Given the description of an element on the screen output the (x, y) to click on. 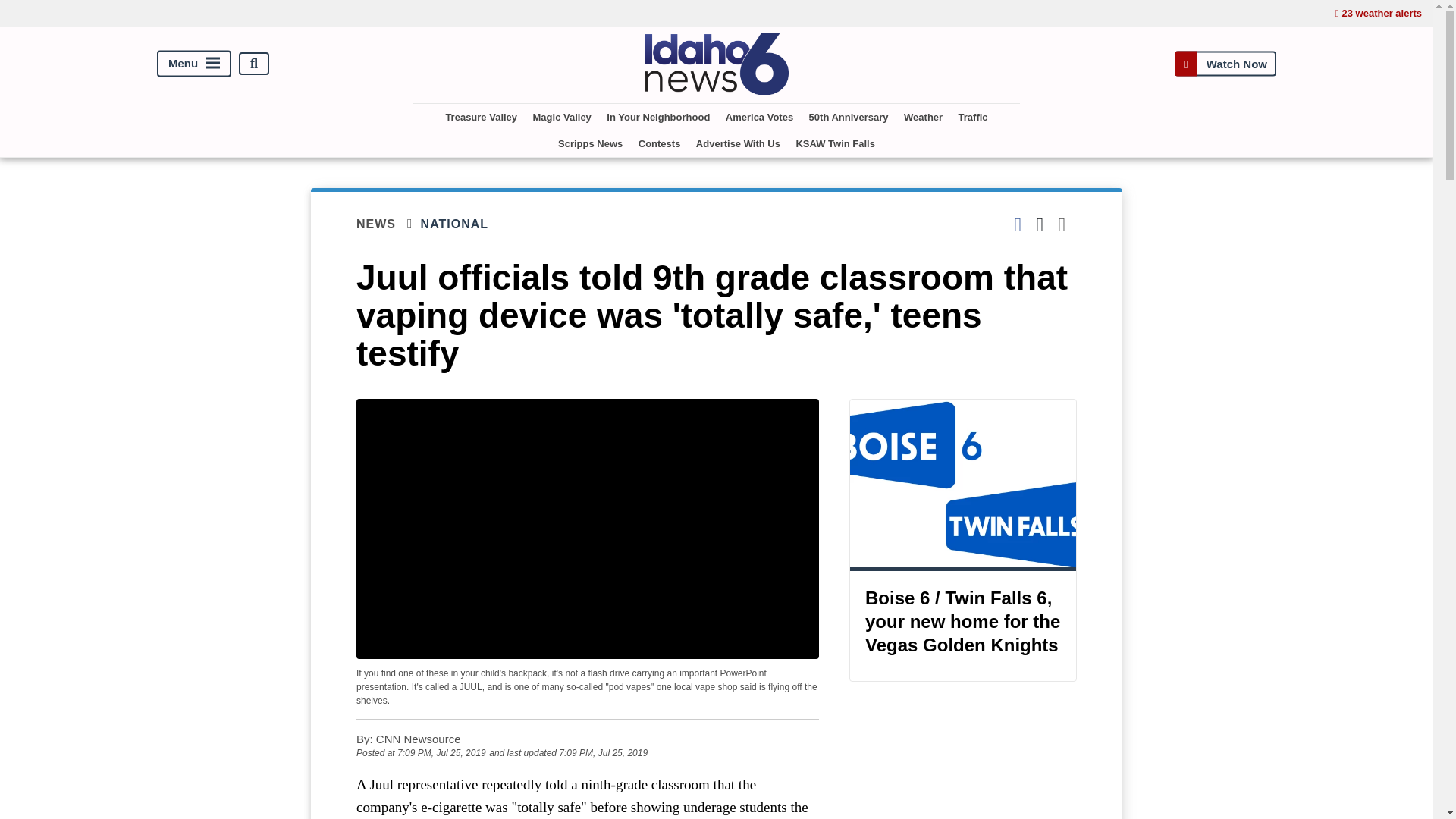
Watch Now (1224, 63)
Menu (194, 63)
